Given the description of an element on the screen output the (x, y) to click on. 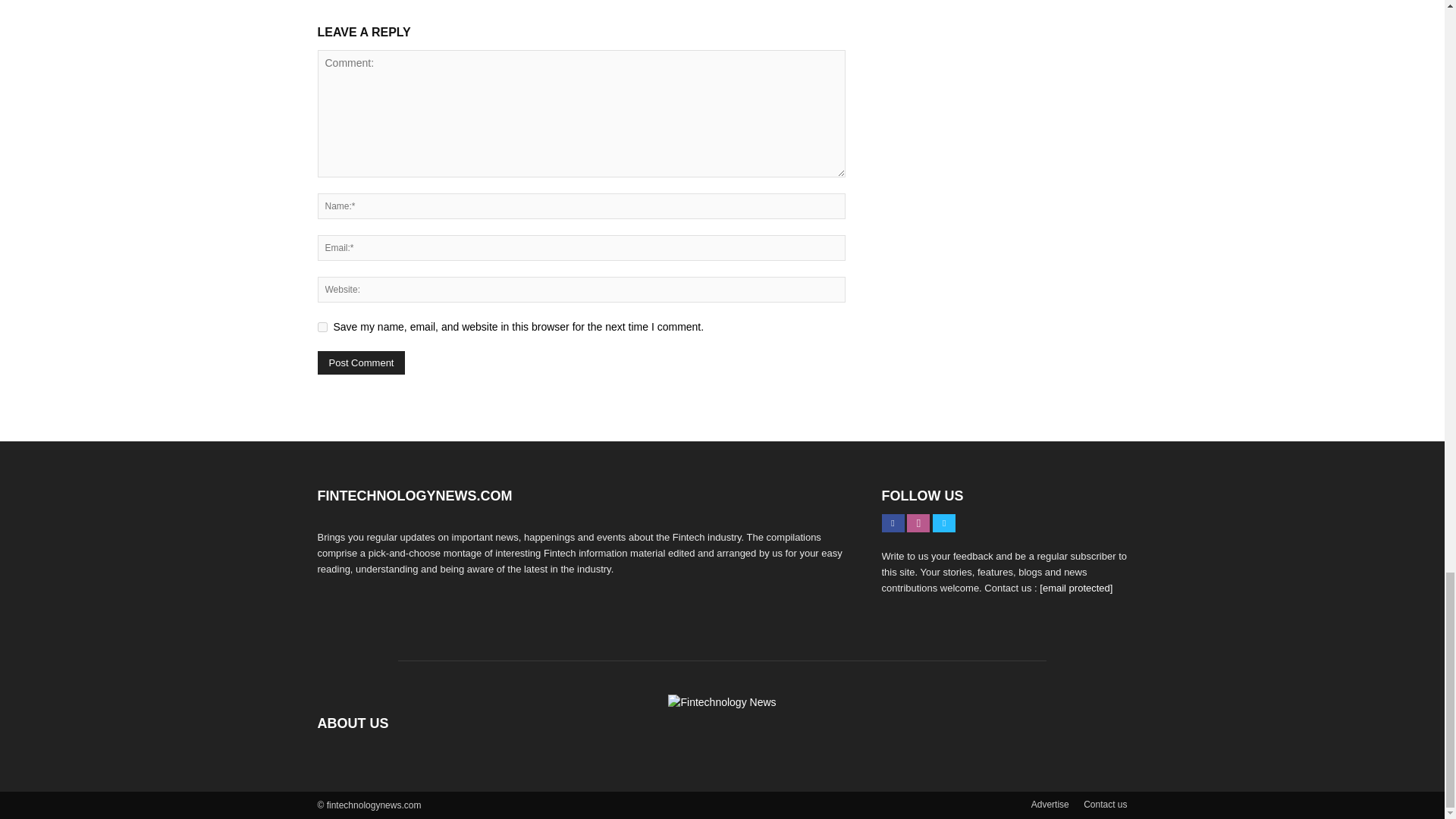
Post Comment (360, 362)
yes (321, 327)
